Given the description of an element on the screen output the (x, y) to click on. 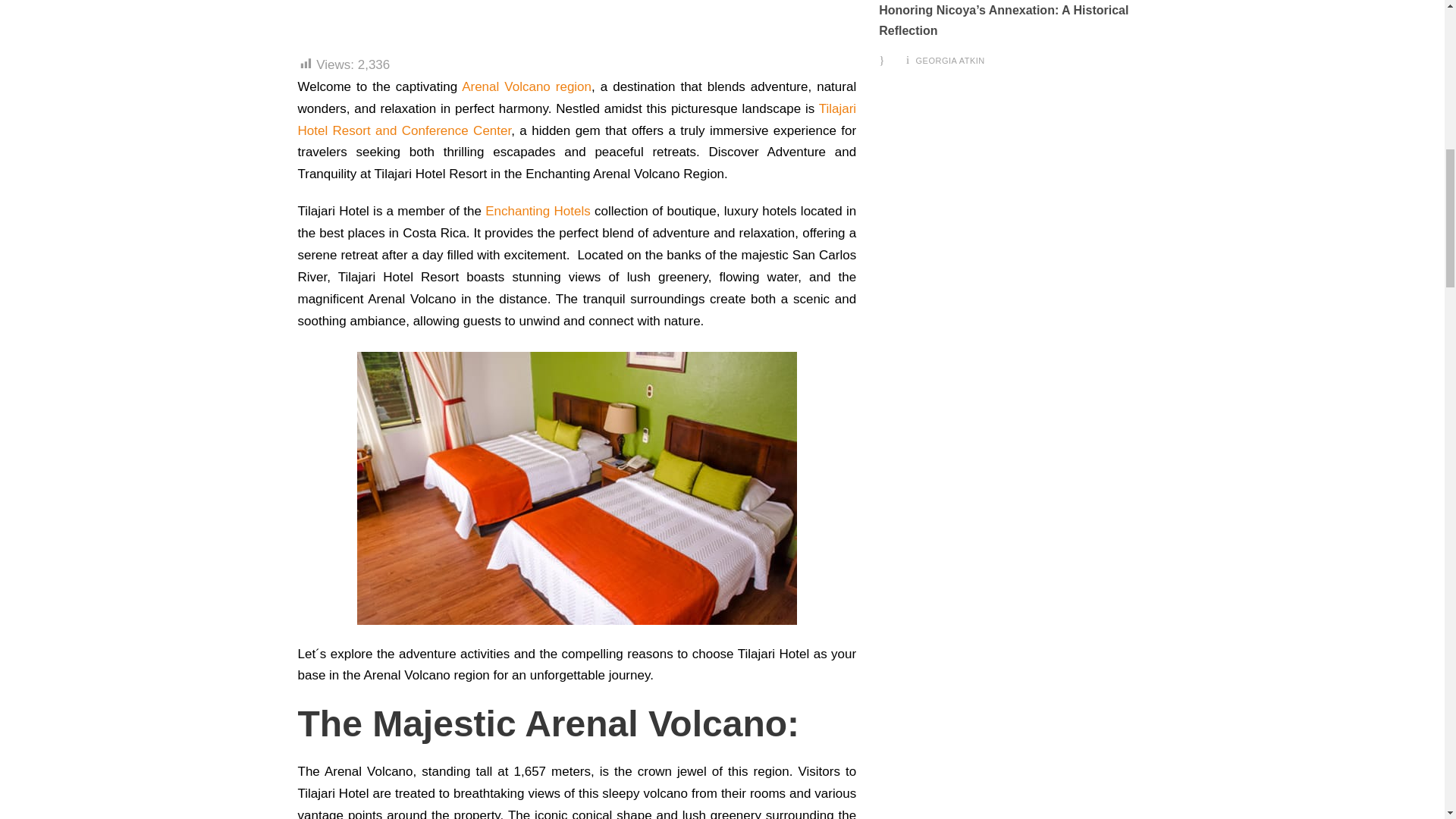
Arenal Volcano Costa Rica (479, 11)
Enchanting Hotels (537, 210)
Tilajari Hotel Resort and Conference Center (576, 119)
Arenal Volcano region (526, 86)
